Given the description of an element on the screen output the (x, y) to click on. 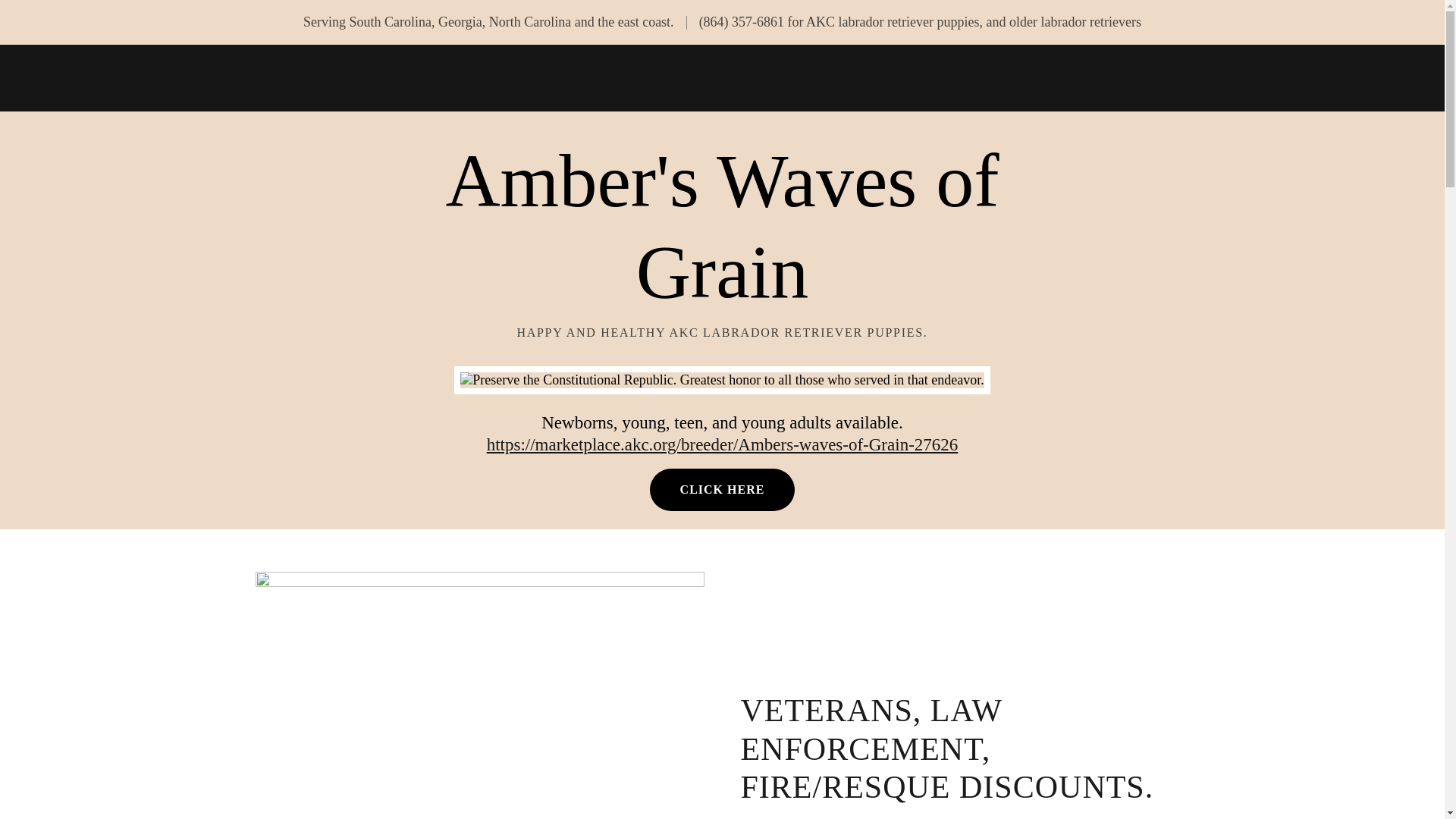
Amber's Waves of Grain (721, 292)
Amber's Waves of Grain (721, 292)
CLICK HERE (721, 489)
